Given the description of an element on the screen output the (x, y) to click on. 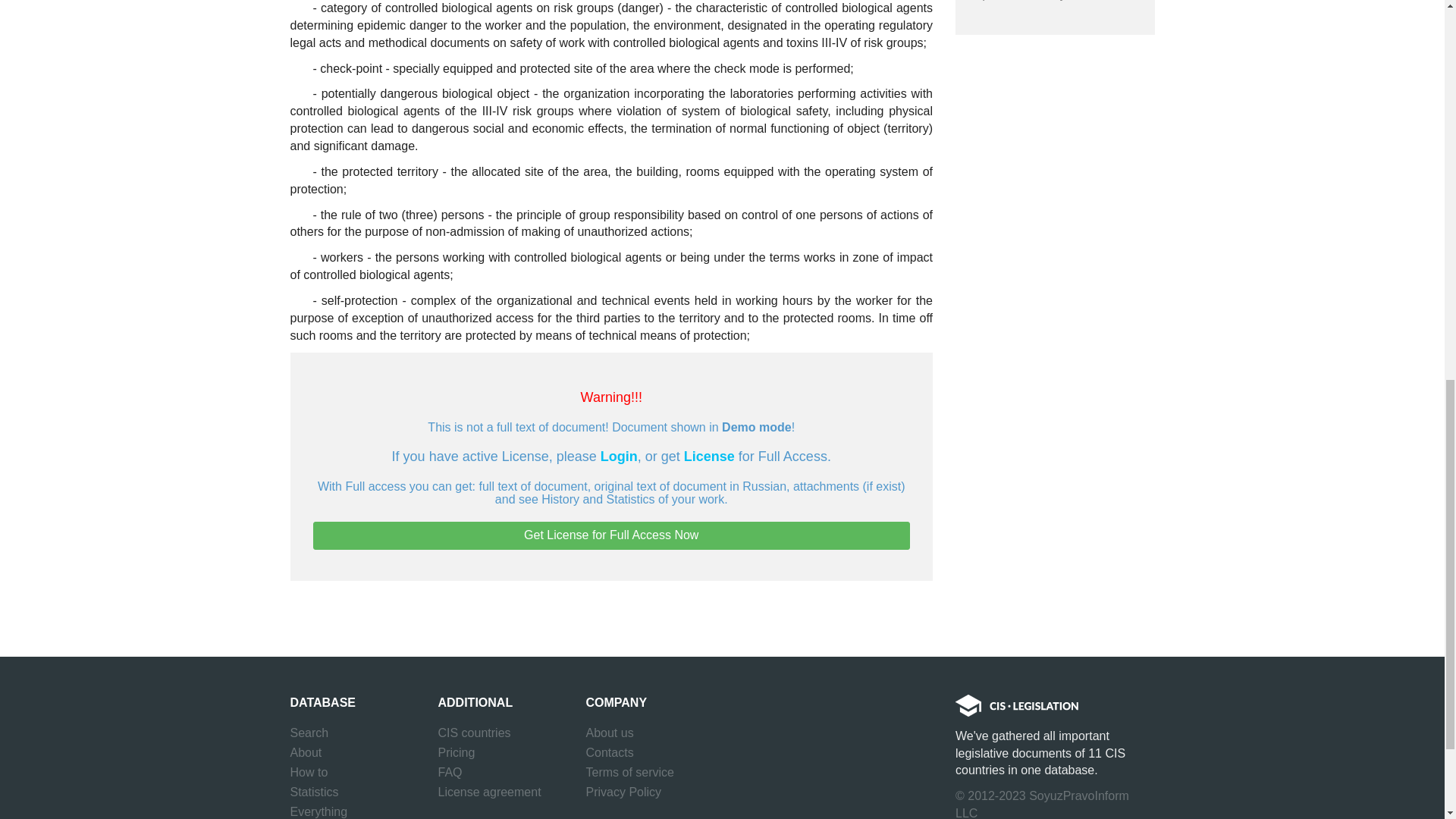
Statistics (313, 792)
Get License for Full Access Now (611, 535)
Everything (318, 810)
How to (308, 772)
License (709, 456)
Login (618, 456)
Pricing (457, 752)
FAQ (450, 772)
Search (309, 732)
Terms of service (628, 772)
CIS countries (474, 732)
License agreement (489, 792)
About (305, 752)
Contacts (609, 752)
About us (609, 732)
